Given the description of an element on the screen output the (x, y) to click on. 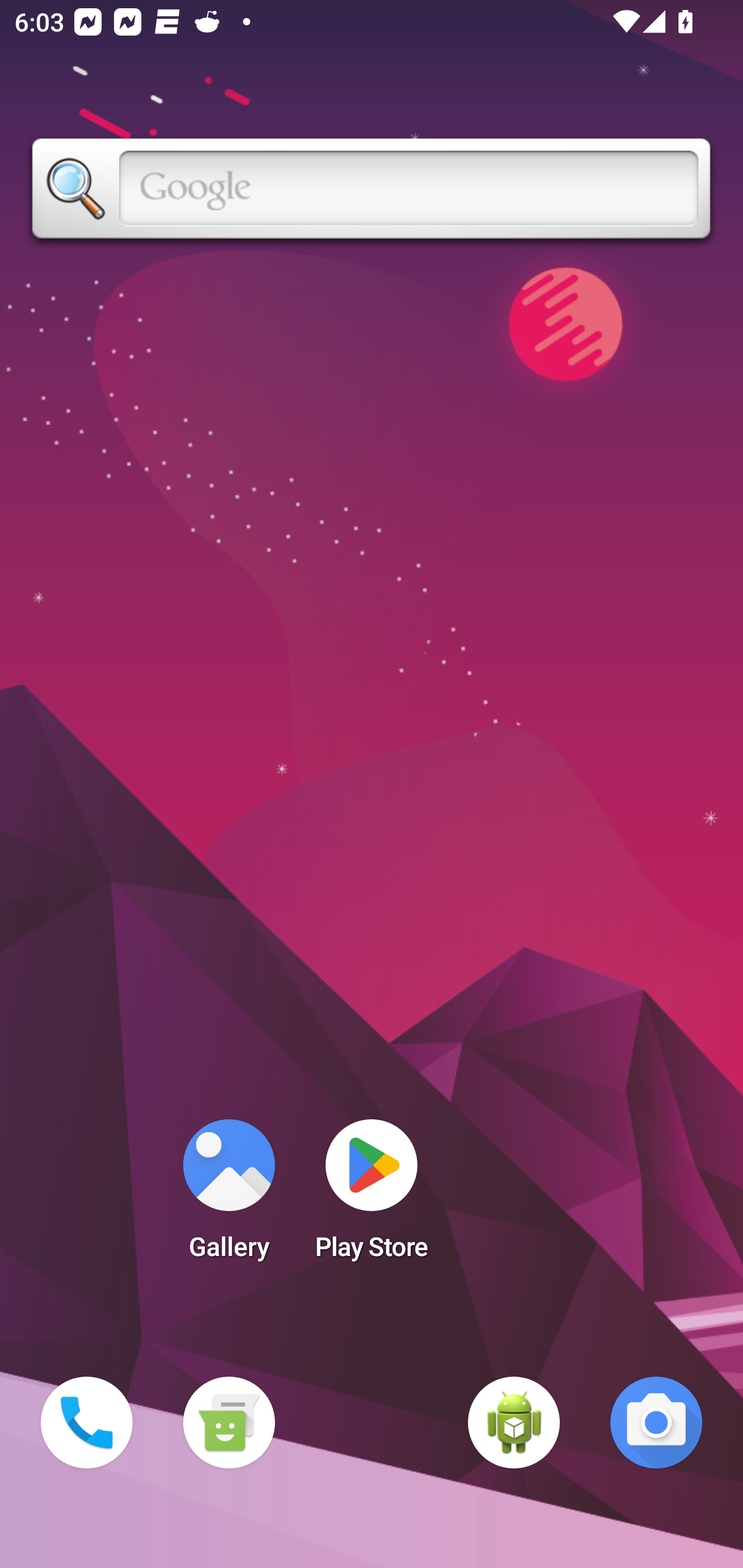
Gallery (228, 1195)
Play Store (371, 1195)
Phone (86, 1422)
Messaging (228, 1422)
WebView Browser Tester (513, 1422)
Camera (656, 1422)
